Given the description of an element on the screen output the (x, y) to click on. 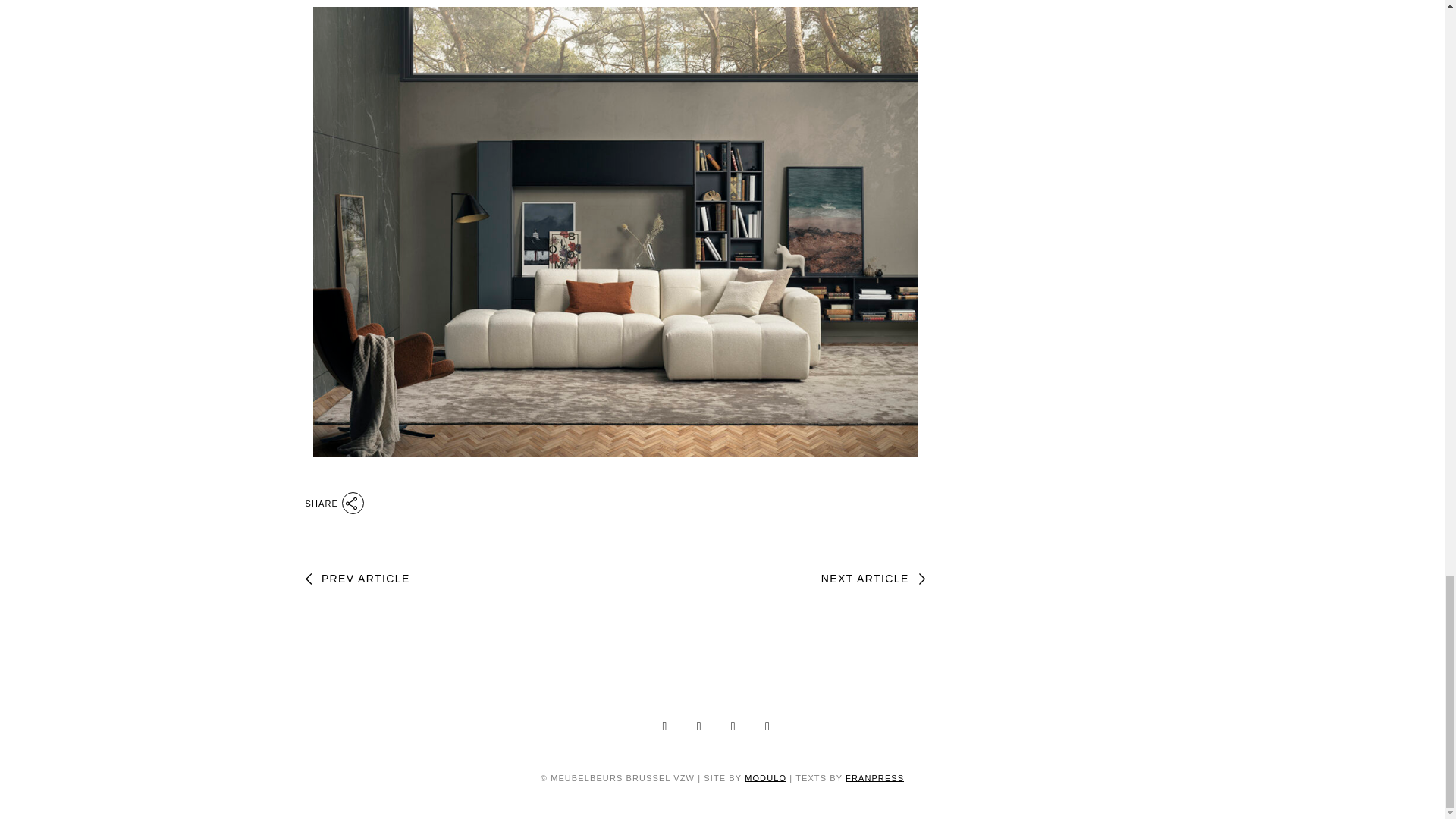
SHARE (334, 500)
NEXT ARTICLE (872, 578)
PREV ARTICLE (356, 578)
